Given the description of an element on the screen output the (x, y) to click on. 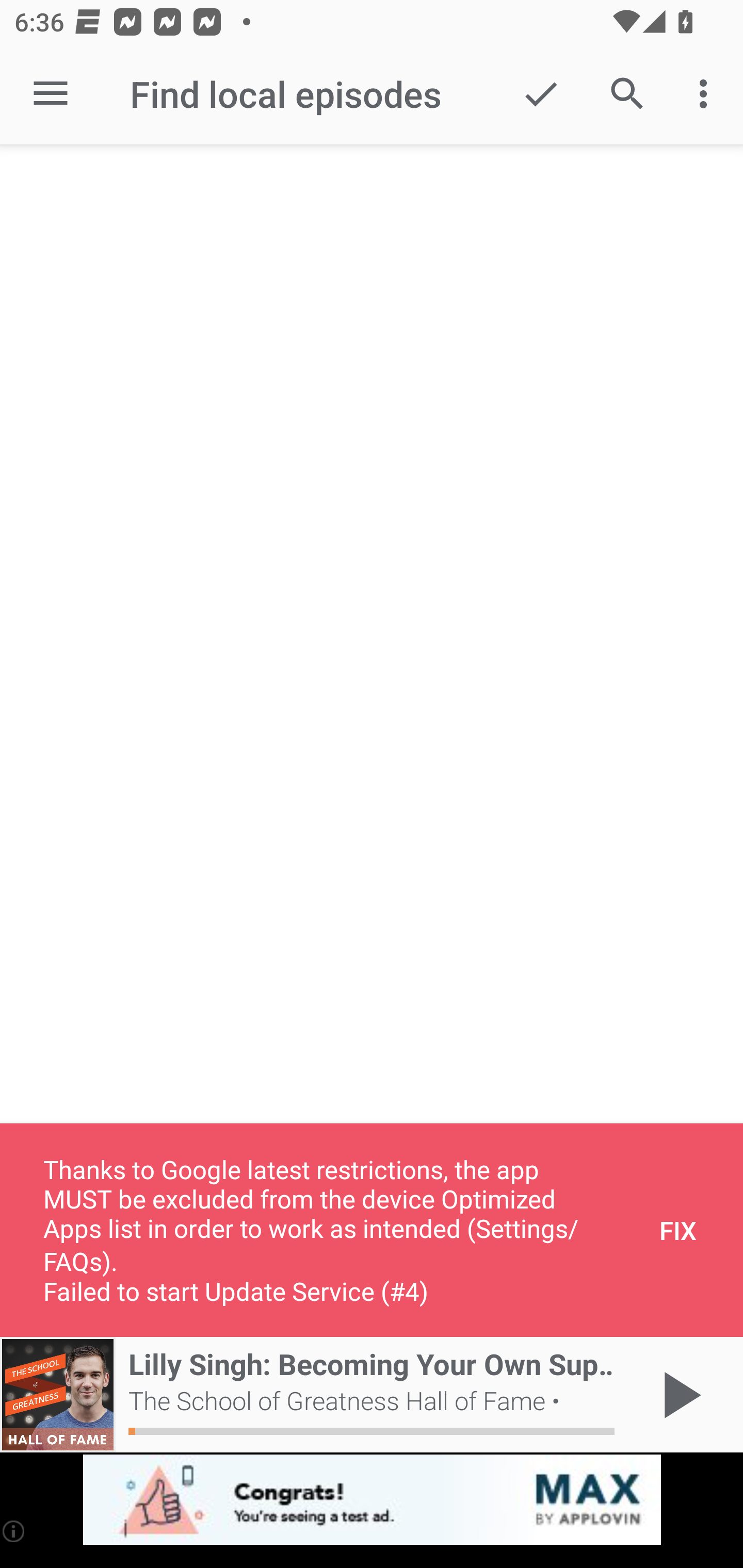
Open navigation sidebar (50, 93)
Action Mode (540, 93)
Search (626, 93)
More options (706, 93)
FIX (677, 1229)
Play / Pause (677, 1394)
app-monetization (371, 1500)
(i) (14, 1531)
